Given the description of an element on the screen output the (x, y) to click on. 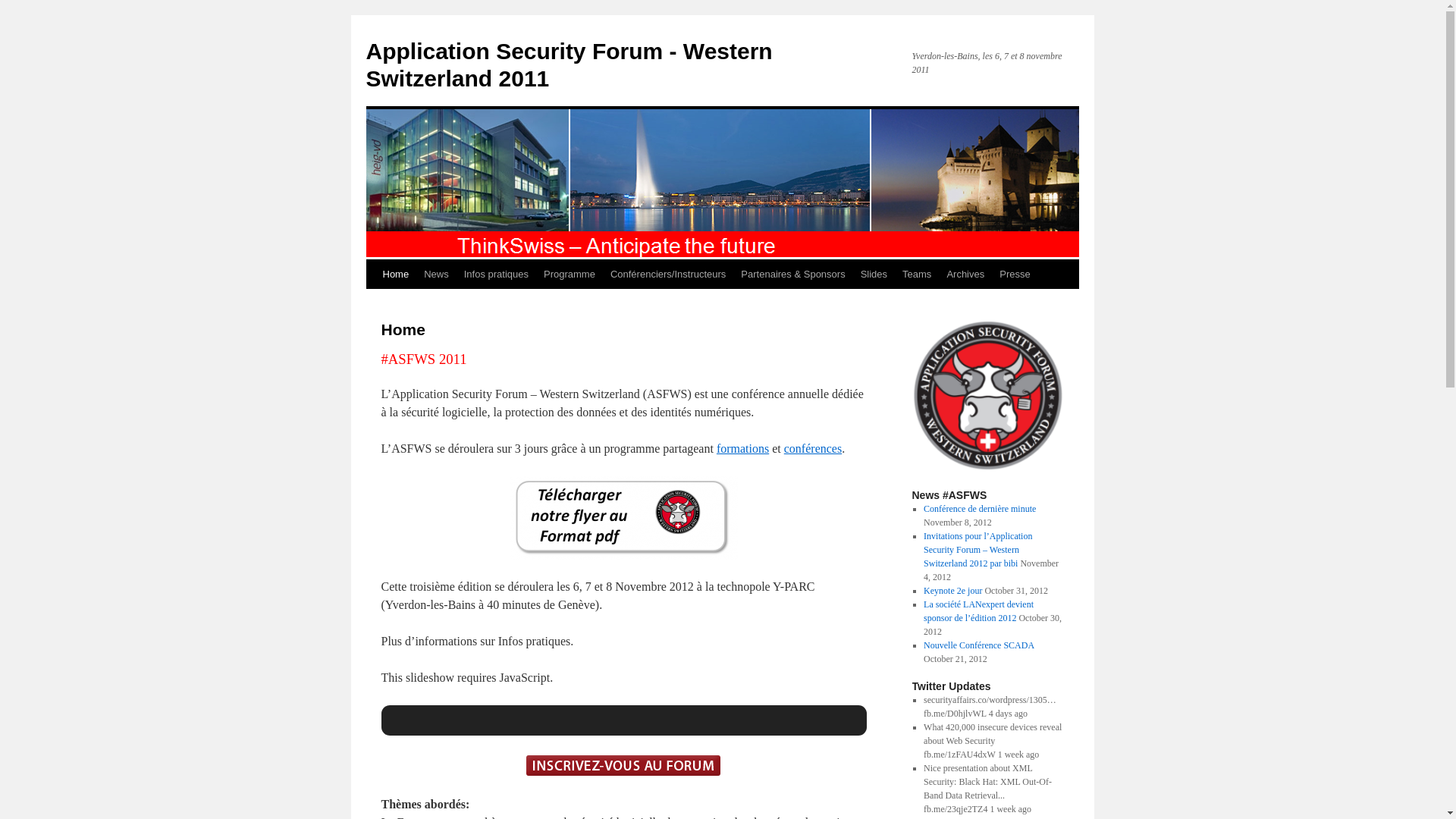
Keynote 2e jour Element type: text (952, 590)
formations Element type: text (742, 448)
flyer Element type: hover (623, 517)
Slides Element type: text (873, 274)
inscription_forum1 Element type: hover (623, 765)
Infos pratiques Element type: text (496, 274)
Archives Element type: text (964, 274)
Programme Element type: text (569, 274)
Presse Element type: text (1014, 274)
Application Security Forum - Western Switzerland 2011 Element type: text (568, 64)
Teams Element type: text (916, 274)
Partenaires & Sponsors Element type: text (792, 274)
Home Element type: text (395, 274)
News Element type: text (436, 274)
